Given the description of an element on the screen output the (x, y) to click on. 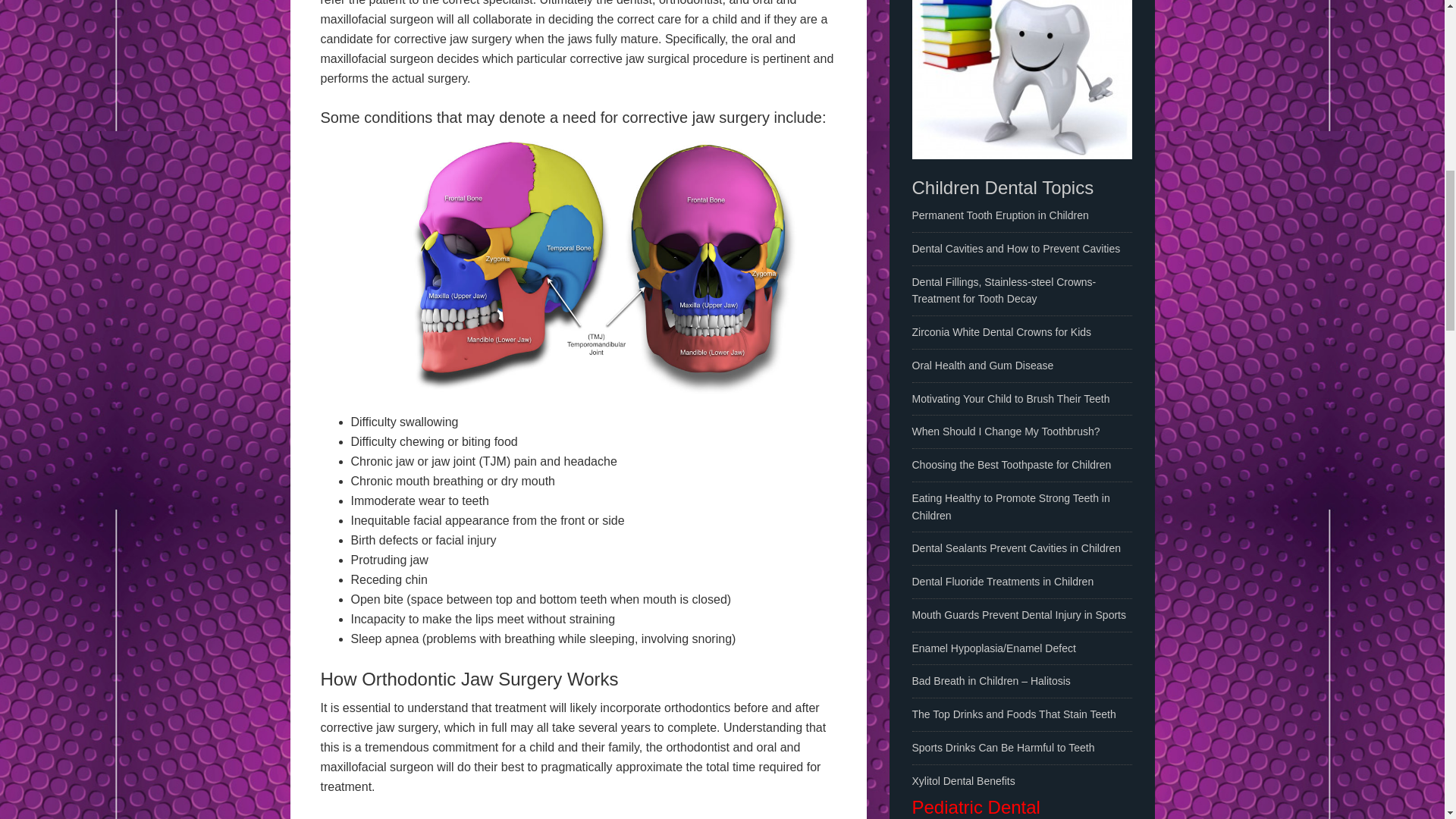
kidsdental dental topics (1021, 79)
anatomy of the jaw  (602, 263)
